Given the description of an element on the screen output the (x, y) to click on. 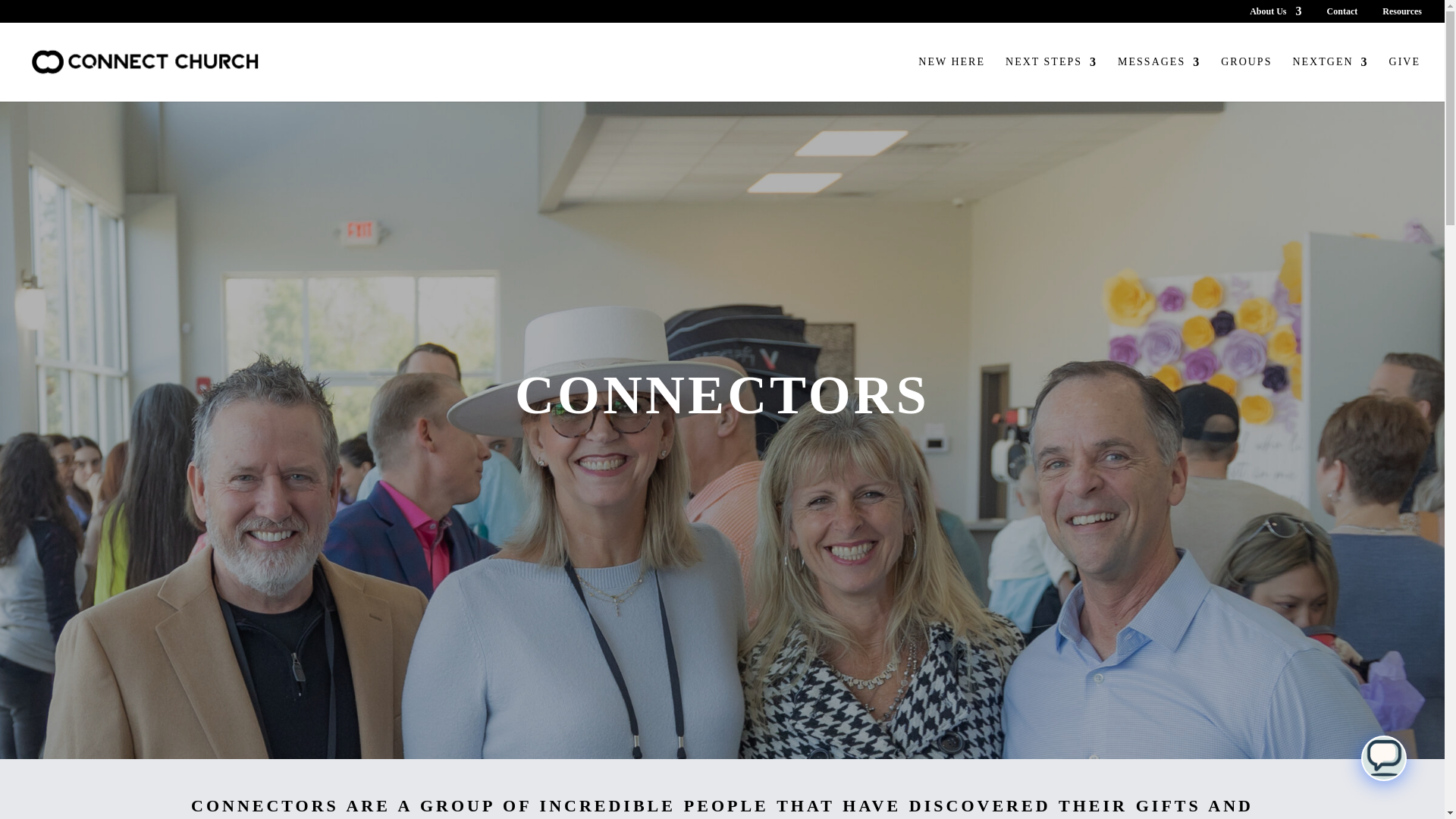
NEW HERE (951, 78)
NEXT STEPS (1051, 78)
NEXTGEN (1330, 78)
Contact (1342, 14)
Resources (1401, 14)
GIVE (1405, 78)
GROUPS (1246, 78)
MESSAGES (1158, 78)
About Us (1275, 14)
